Given the description of an element on the screen output the (x, y) to click on. 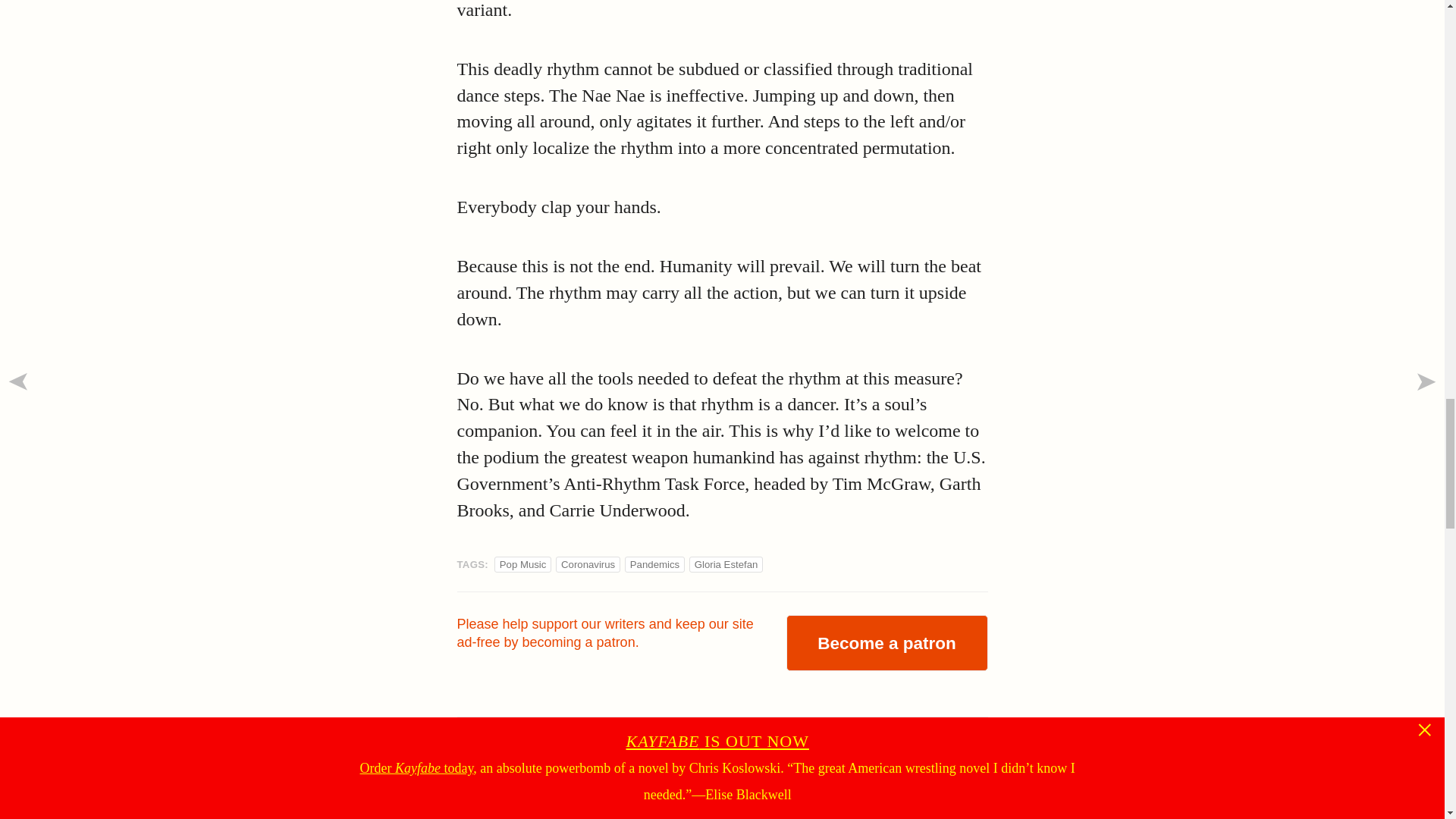
Pop Music (523, 564)
Become a patron (886, 642)
Gloria Estefan (726, 564)
Pandemics (654, 564)
Coronavirus (587, 564)
